Given the description of an element on the screen output the (x, y) to click on. 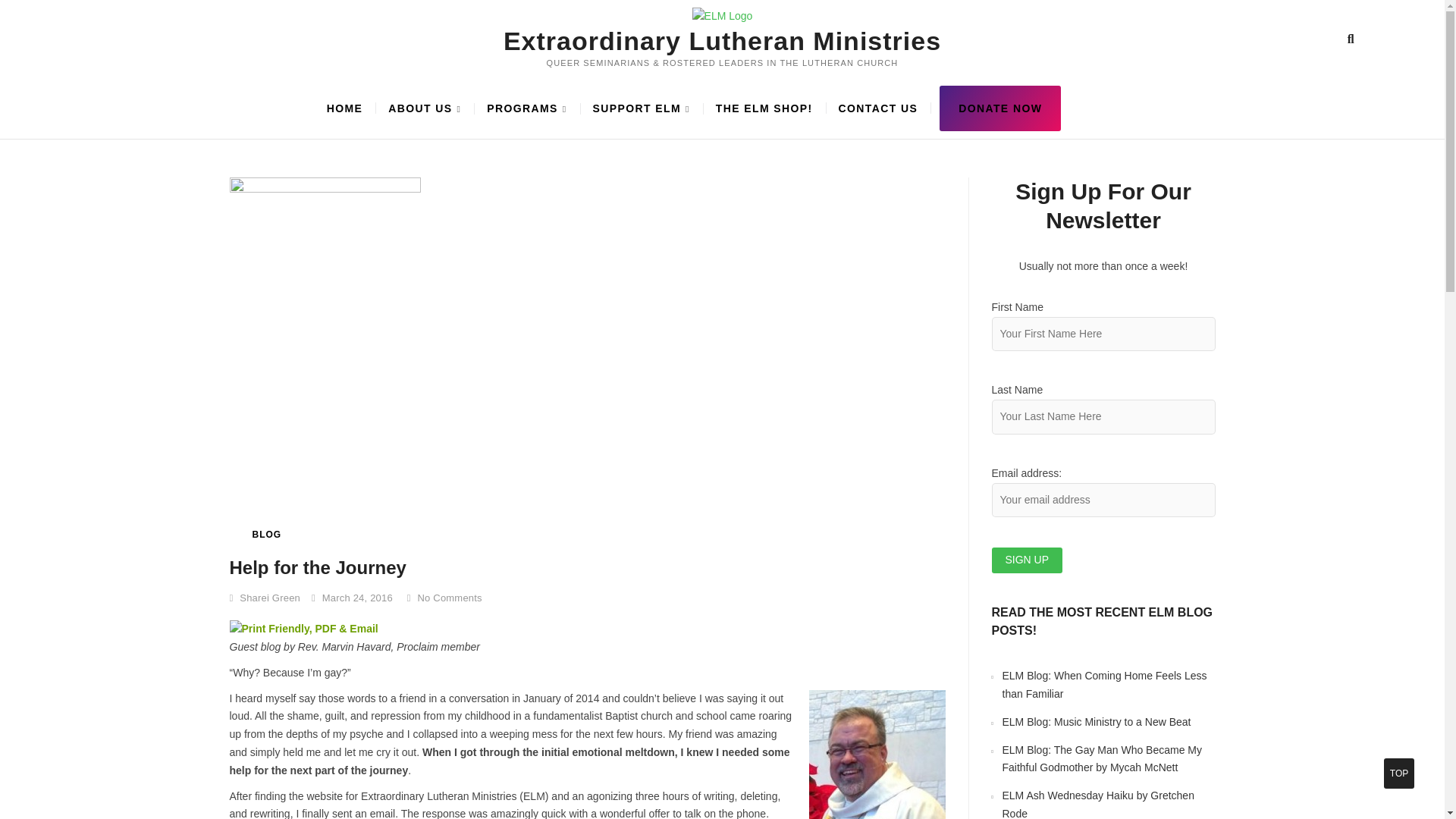
DONATE NOW (999, 108)
Help for the Journey (317, 567)
ABOUT US (424, 108)
Extraordinary Lutheran Ministries (721, 40)
SUPPORT ELM (640, 108)
Help for the Journey (317, 567)
Help for the Journey (263, 597)
Sign up (1026, 560)
Extraordinary Lutheran Ministries (721, 40)
THE ELM SHOP! (764, 108)
